Given the description of an element on the screen output the (x, y) to click on. 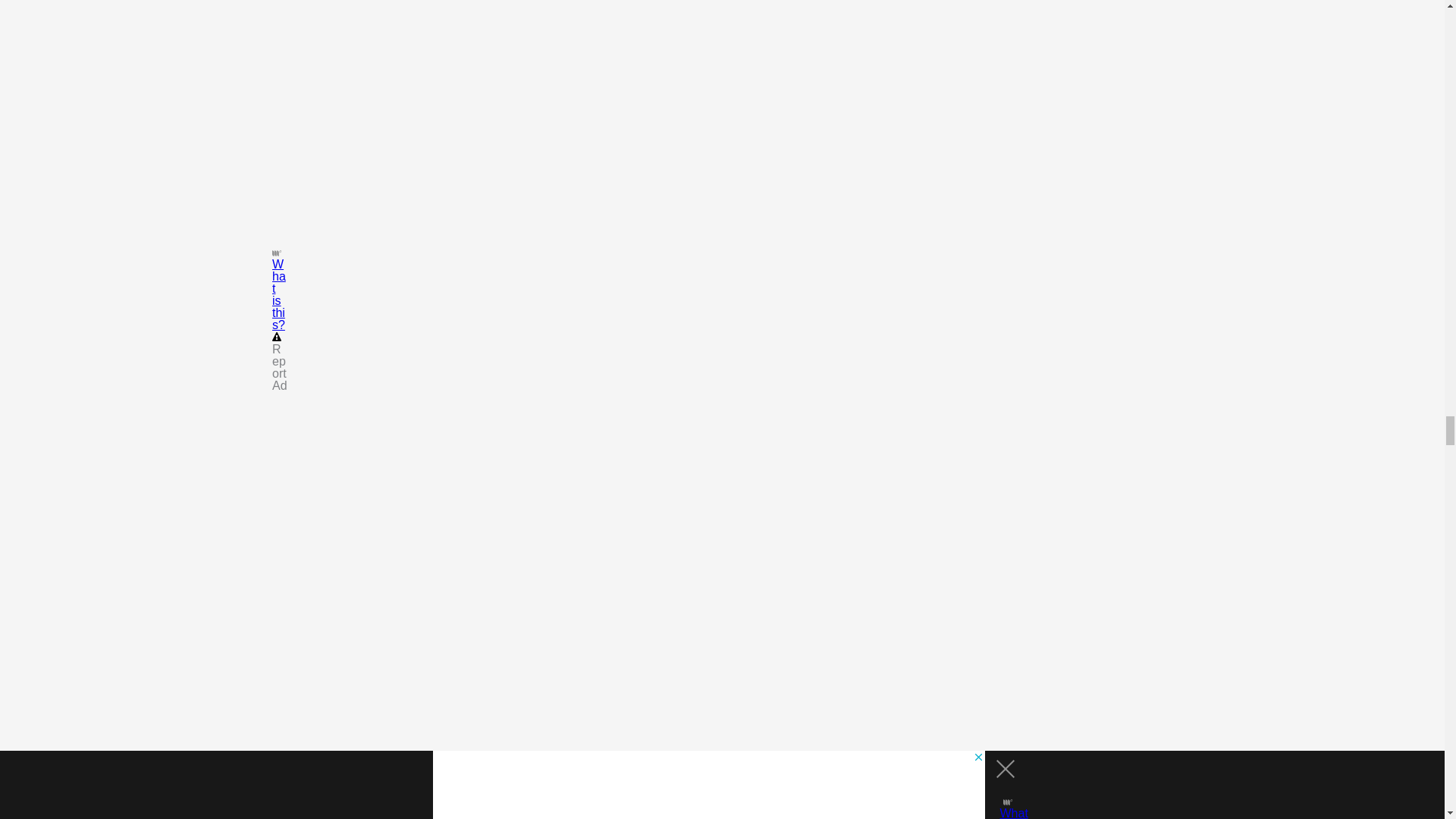
3rd party ad content (174, 106)
